Given the description of an element on the screen output the (x, y) to click on. 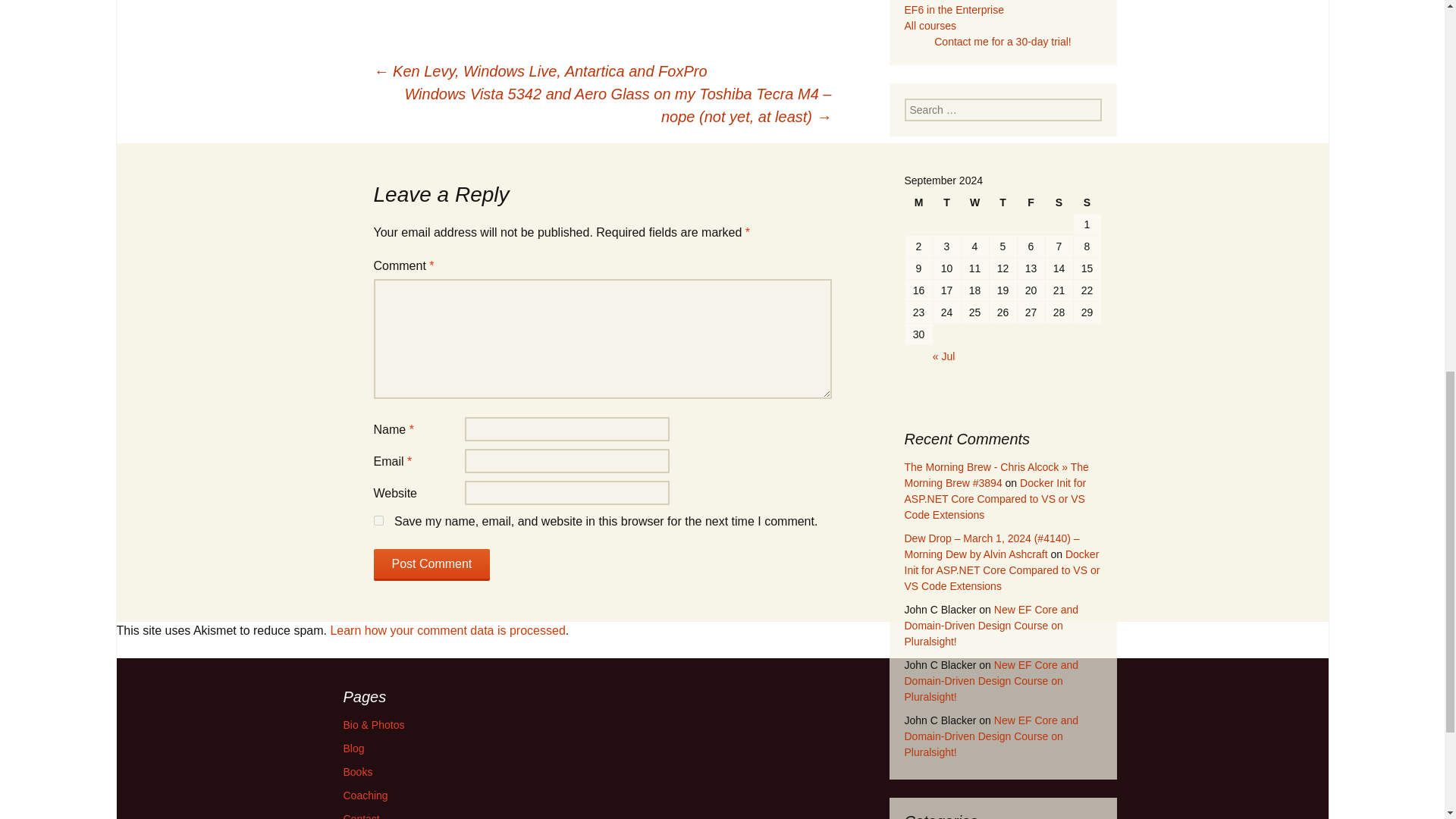
Learn how your comment data is processed (447, 630)
Post Comment (430, 564)
Tuesday (946, 201)
Monday (919, 201)
Friday (1031, 201)
Wednesday (974, 201)
Saturday (1058, 201)
Post Comment (430, 564)
Thursday (1002, 201)
yes (377, 520)
